Given the description of an element on the screen output the (x, y) to click on. 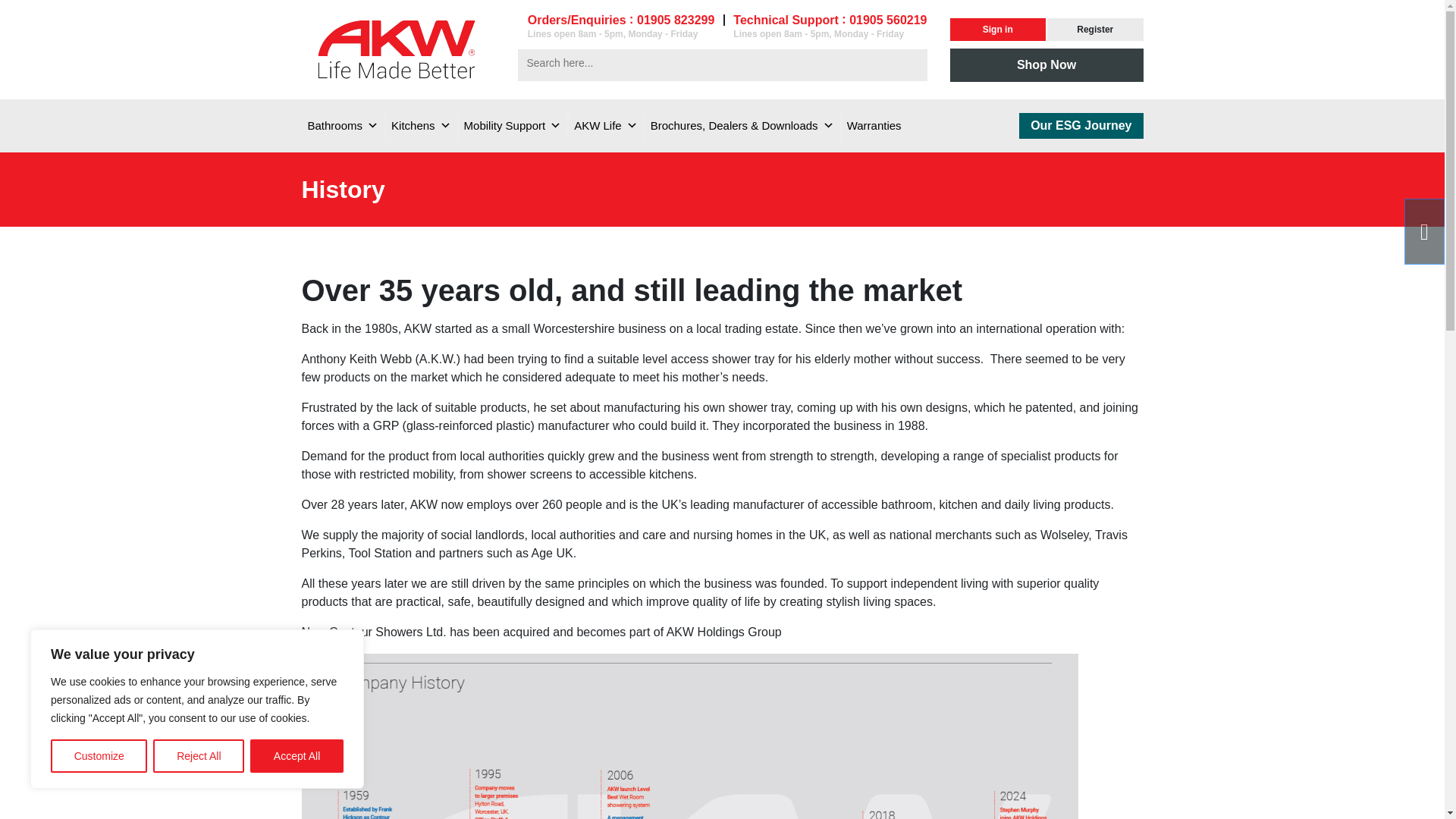
Shop Now (1045, 64)
Customize (98, 756)
Accept All (296, 756)
Reject All (198, 756)
01905 560219 (887, 19)
Sign in (997, 29)
Register (1094, 29)
Bathrooms (343, 125)
01905 823299 (675, 19)
